Given the description of an element on the screen output the (x, y) to click on. 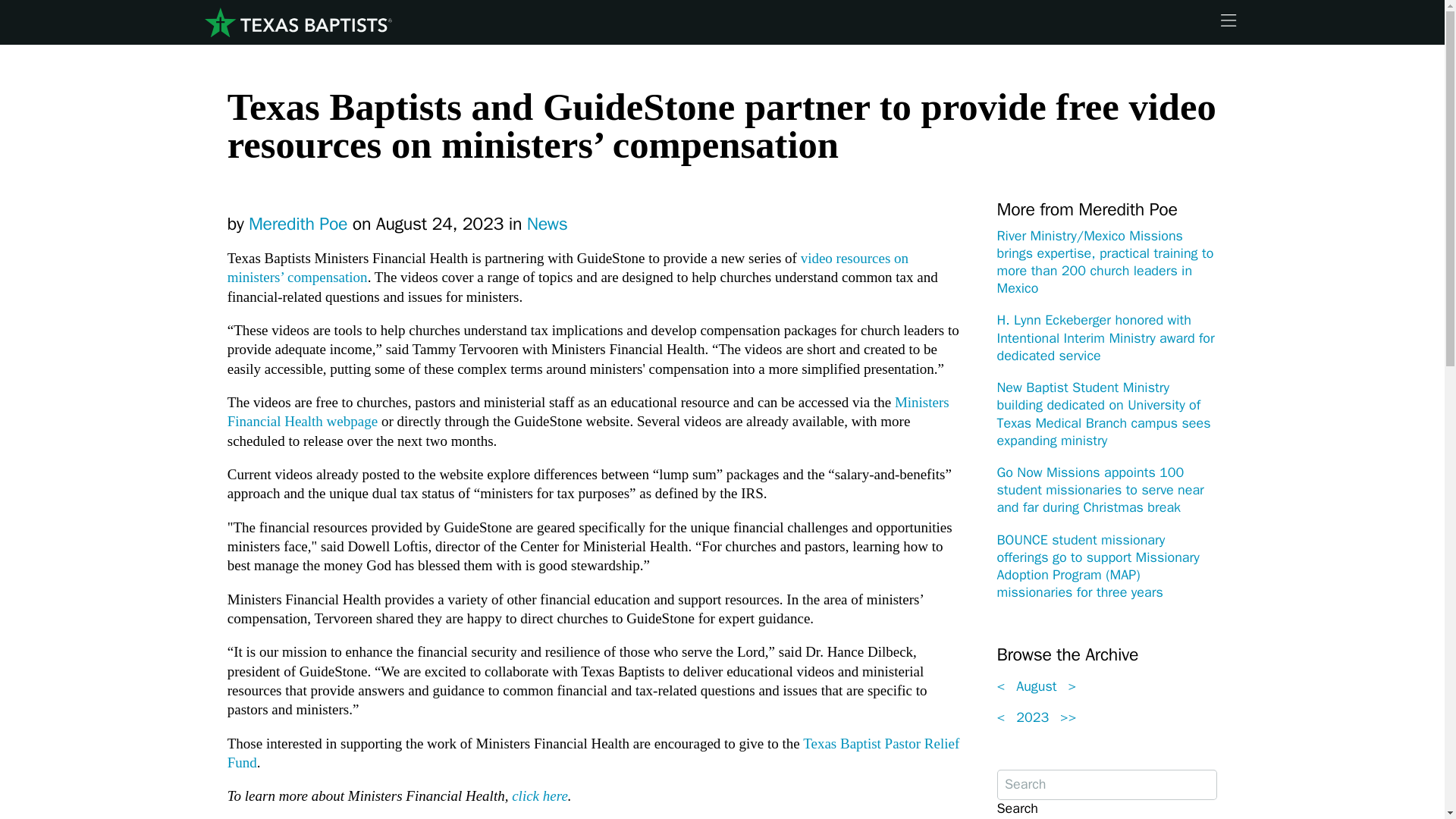
Home (297, 22)
Ministers Financial Health webpage (588, 411)
Texas Baptist Pastor Relief Fund (593, 752)
Search (1015, 808)
August (1036, 686)
Meredith Poe (297, 223)
click here (539, 795)
2023 (1033, 717)
